Given the description of an element on the screen output the (x, y) to click on. 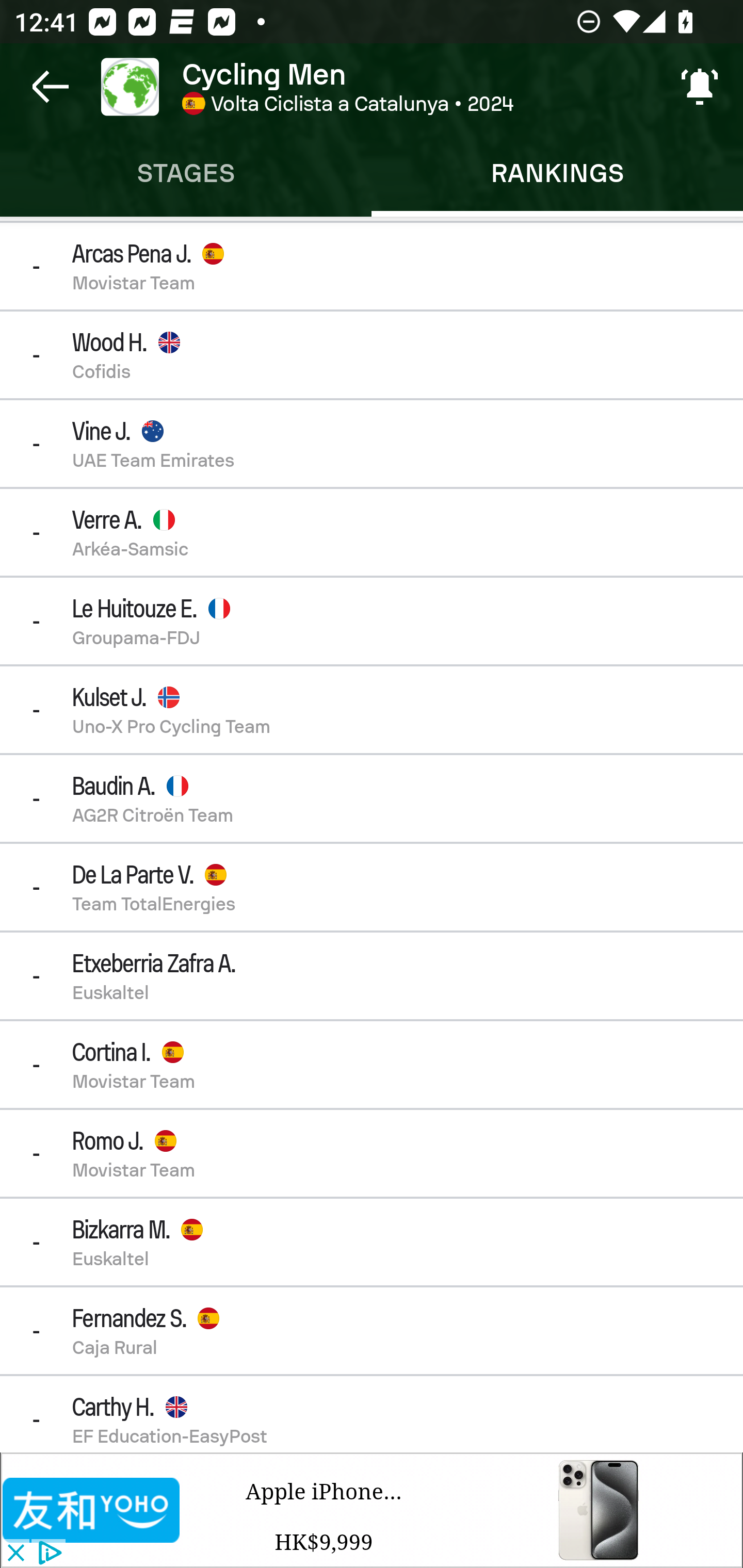
Navigate up (50, 86)
Stages STAGES (185, 173)
- Arcas Pena J. Movistar Team (371, 265)
- Wood H. Cofidis (371, 355)
- Vine J. UAE Team Emirates (371, 443)
- Verre A. Arkéa-Samsic (371, 532)
- Le Huitouze E. Groupama-FDJ (371, 620)
- Kulset J. Uno-X Pro Cycling Team (371, 709)
- Baudin A. AG2R Citroën Team (371, 798)
- De La Parte V. Team TotalEnergies (371, 886)
- Etxeberria Zafra A. Euskaltel (371, 975)
- Cortina I. Movistar Team (371, 1064)
- Romo J. Movistar Team (371, 1153)
- Bizkarra M. Euskaltel (371, 1241)
- Fernandez S. Caja Rural (371, 1330)
- Carthy H. EF Education-EasyPost (371, 1413)
   (91, 1509)
close_button (14, 1553)
privacy_small (47, 1553)
